Given the description of an element on the screen output the (x, y) to click on. 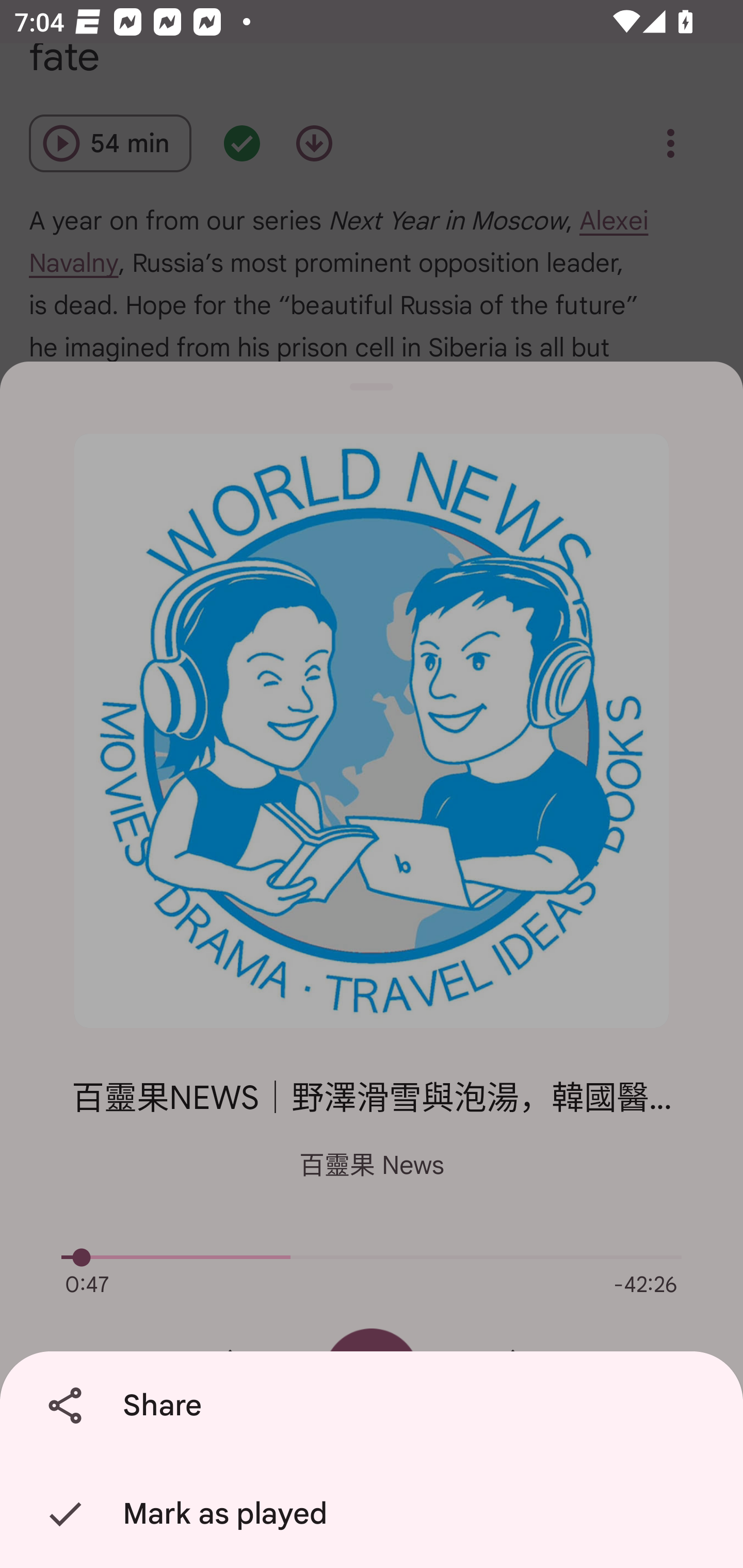
Share (375, 1405)
Mark as played (375, 1513)
